Given the description of an element on the screen output the (x, y) to click on. 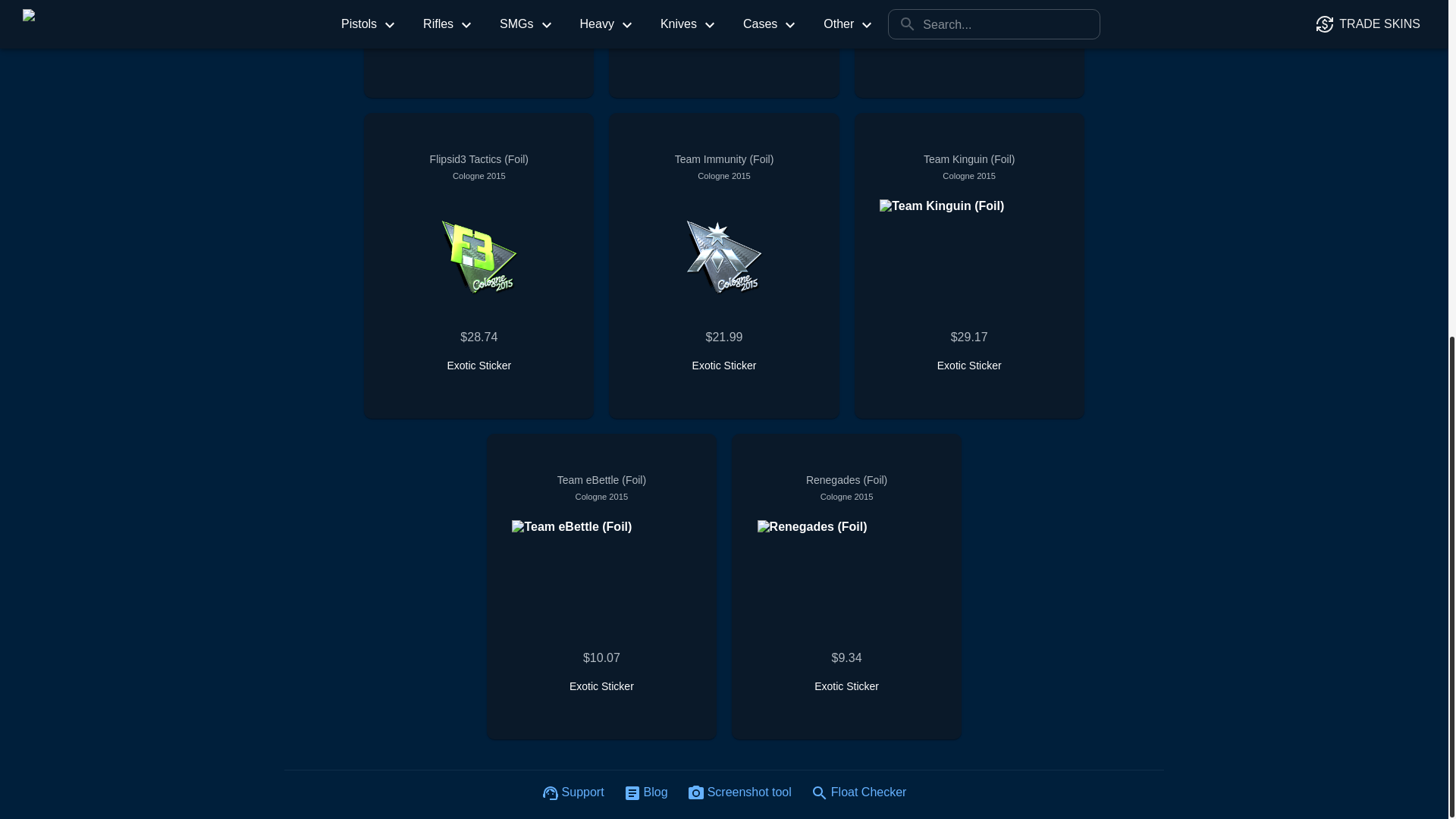
Screenshot tool (740, 794)
Blog (646, 794)
Float Checker (859, 794)
Support (573, 794)
